Given the description of an element on the screen output the (x, y) to click on. 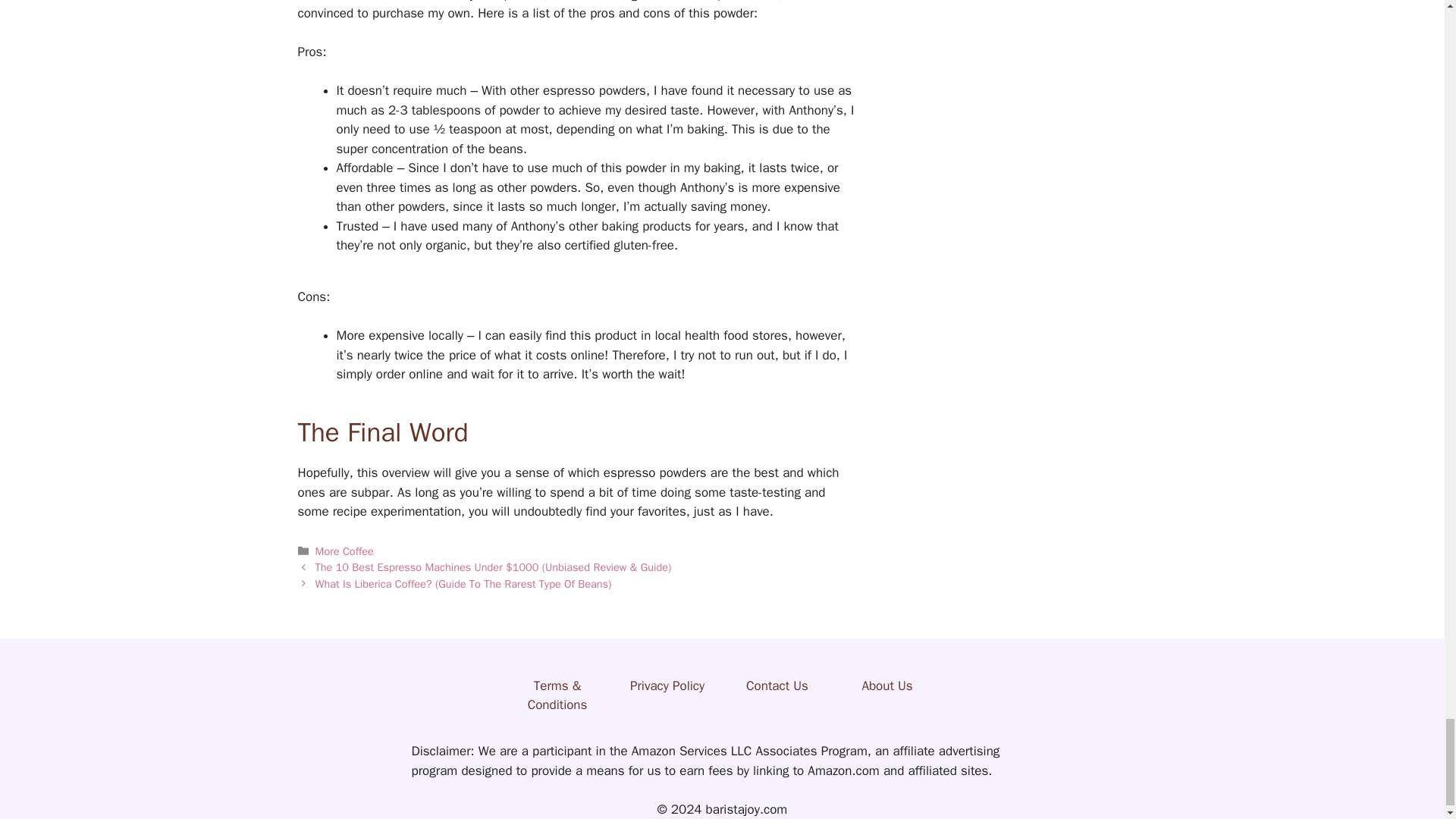
More Coffee (344, 550)
